Given the description of an element on the screen output the (x, y) to click on. 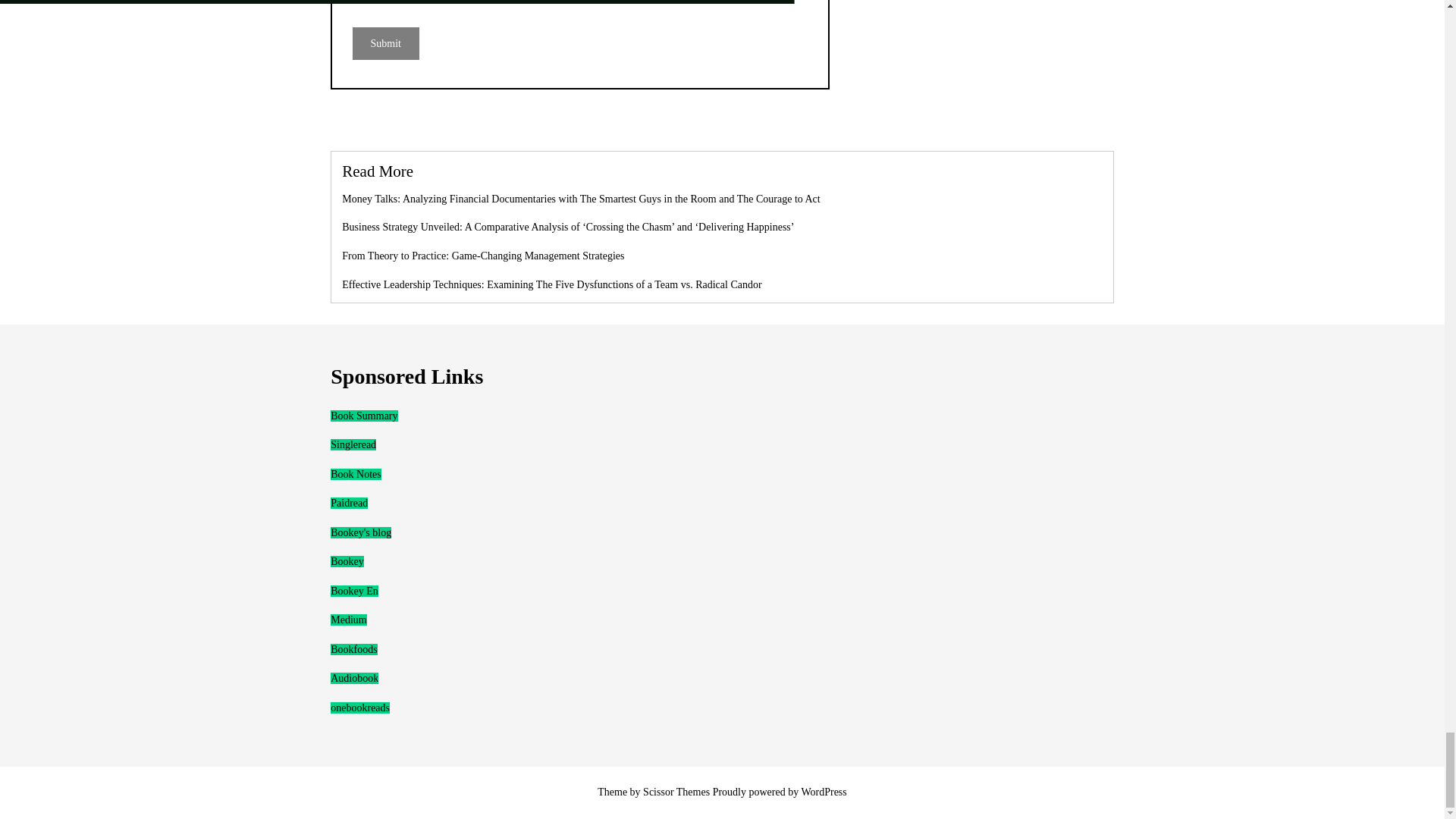
Submit (385, 43)
